Given the description of an element on the screen output the (x, y) to click on. 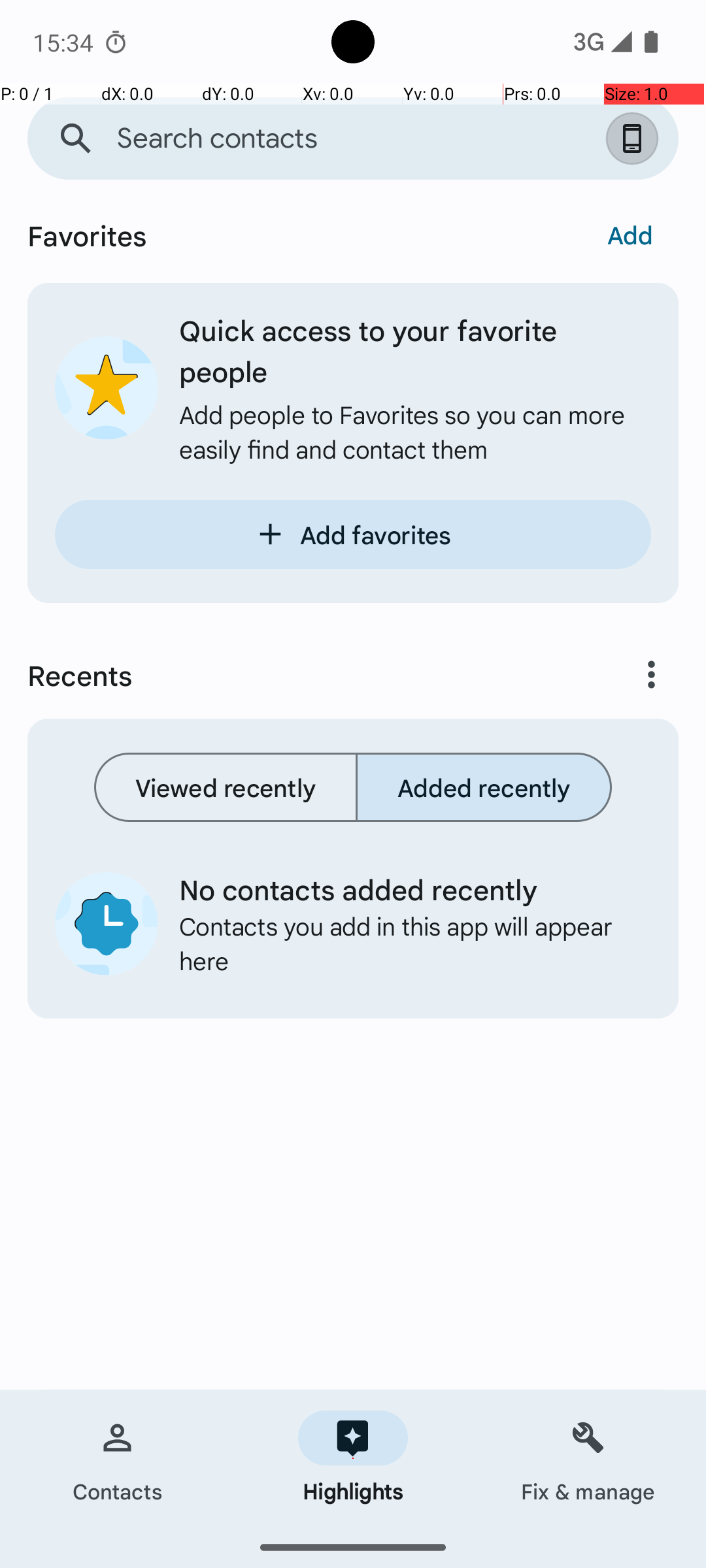
Quick access to your favorite people Element type: android.widget.TextView (415, 350)
Add people to Favorites so you can more easily find and contact them Element type: android.widget.TextView (415, 431)
Add favorites Element type: android.widget.Button (352, 534)
No contacts added recently Element type: android.widget.TextView (404, 888)
Contacts you add in this app will appear here Element type: android.widget.TextView (404, 942)
Viewed recently Element type: android.widget.CompoundButton (225, 787)
Added recently Element type: android.widget.CompoundButton (483, 787)
